Given the description of an element on the screen output the (x, y) to click on. 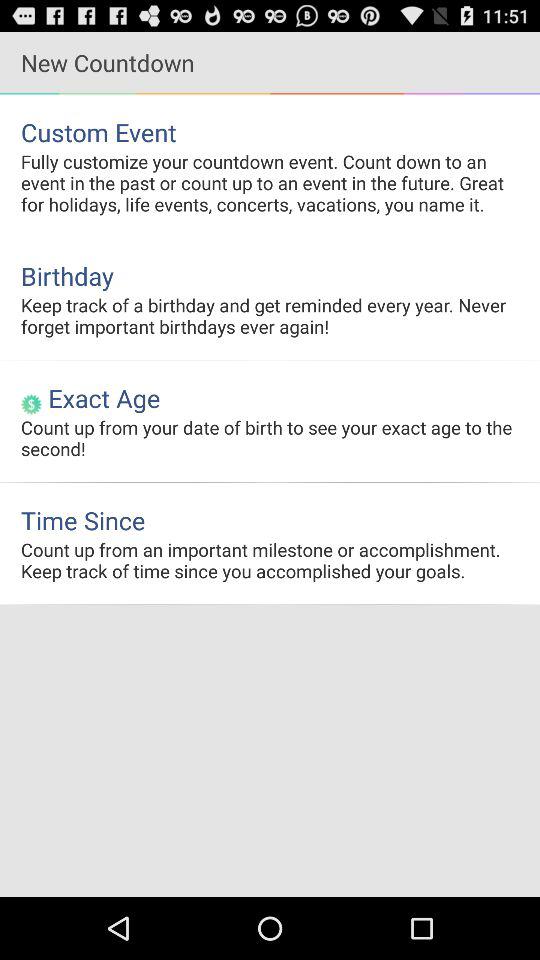
press icon above birthday (270, 182)
